Given the description of an element on the screen output the (x, y) to click on. 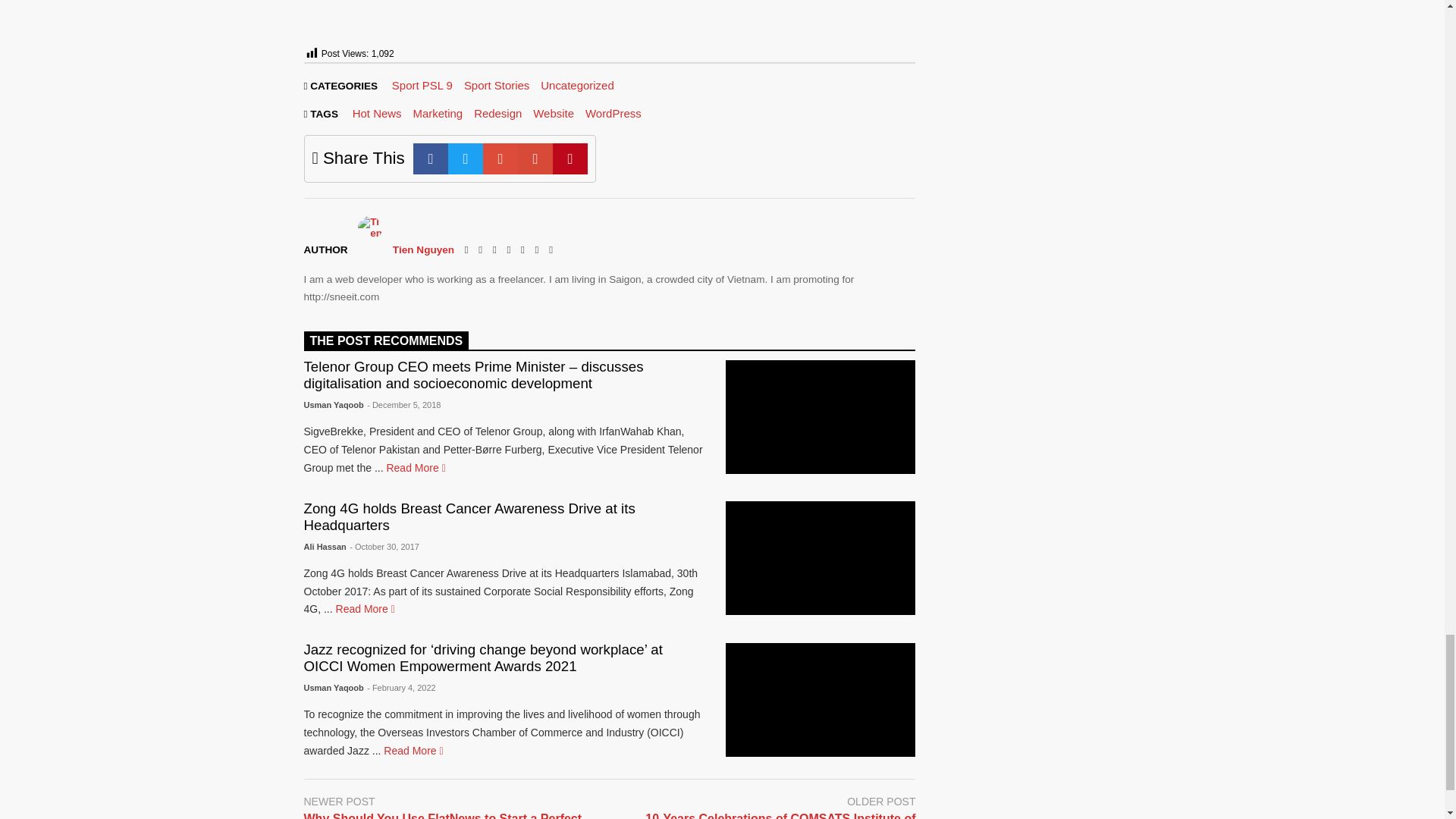
Facebook (430, 158)
Twitter (465, 158)
